Given the description of an element on the screen output the (x, y) to click on. 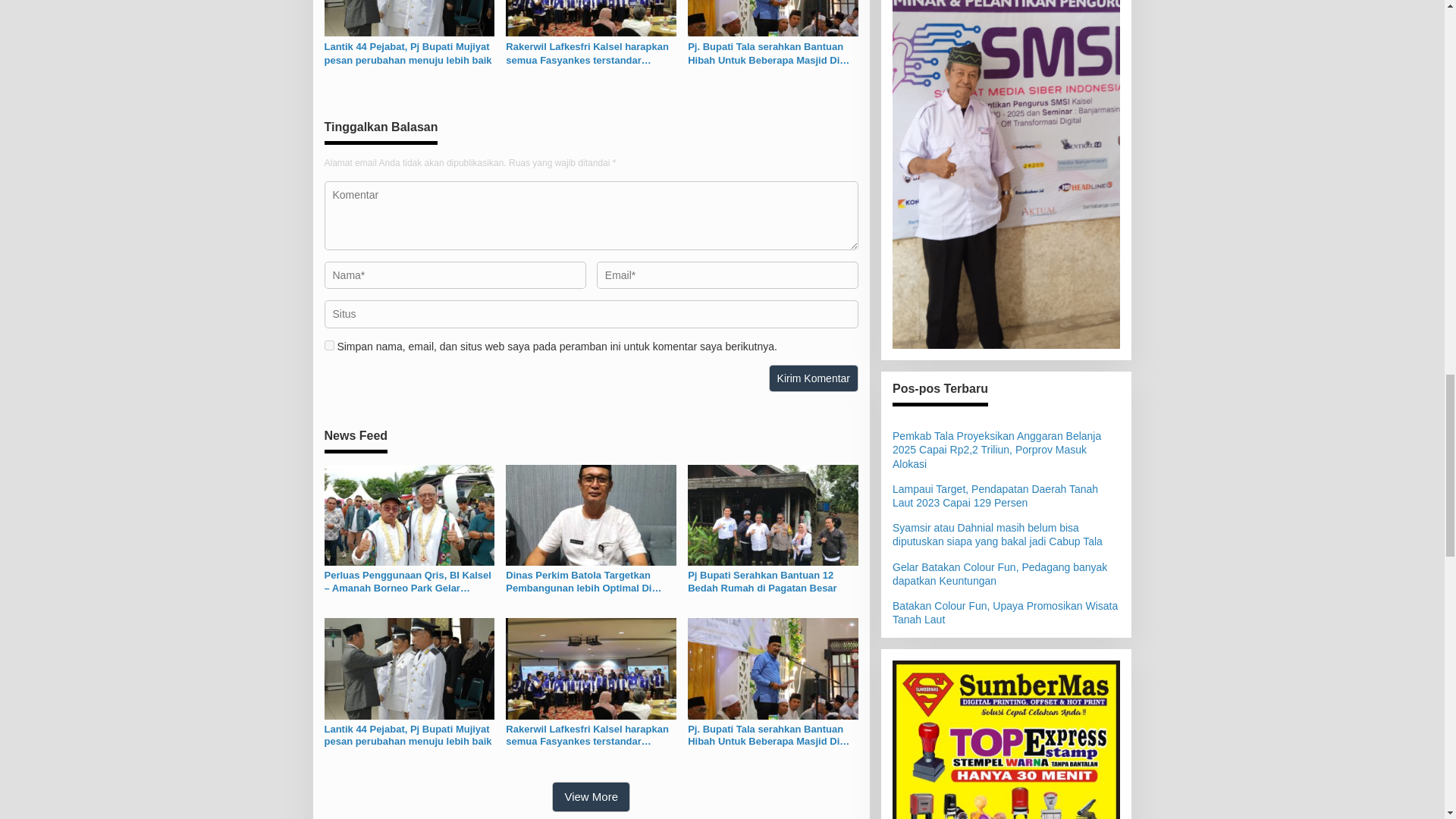
Kirim Komentar (813, 378)
yes (329, 345)
